Given the description of an element on the screen output the (x, y) to click on. 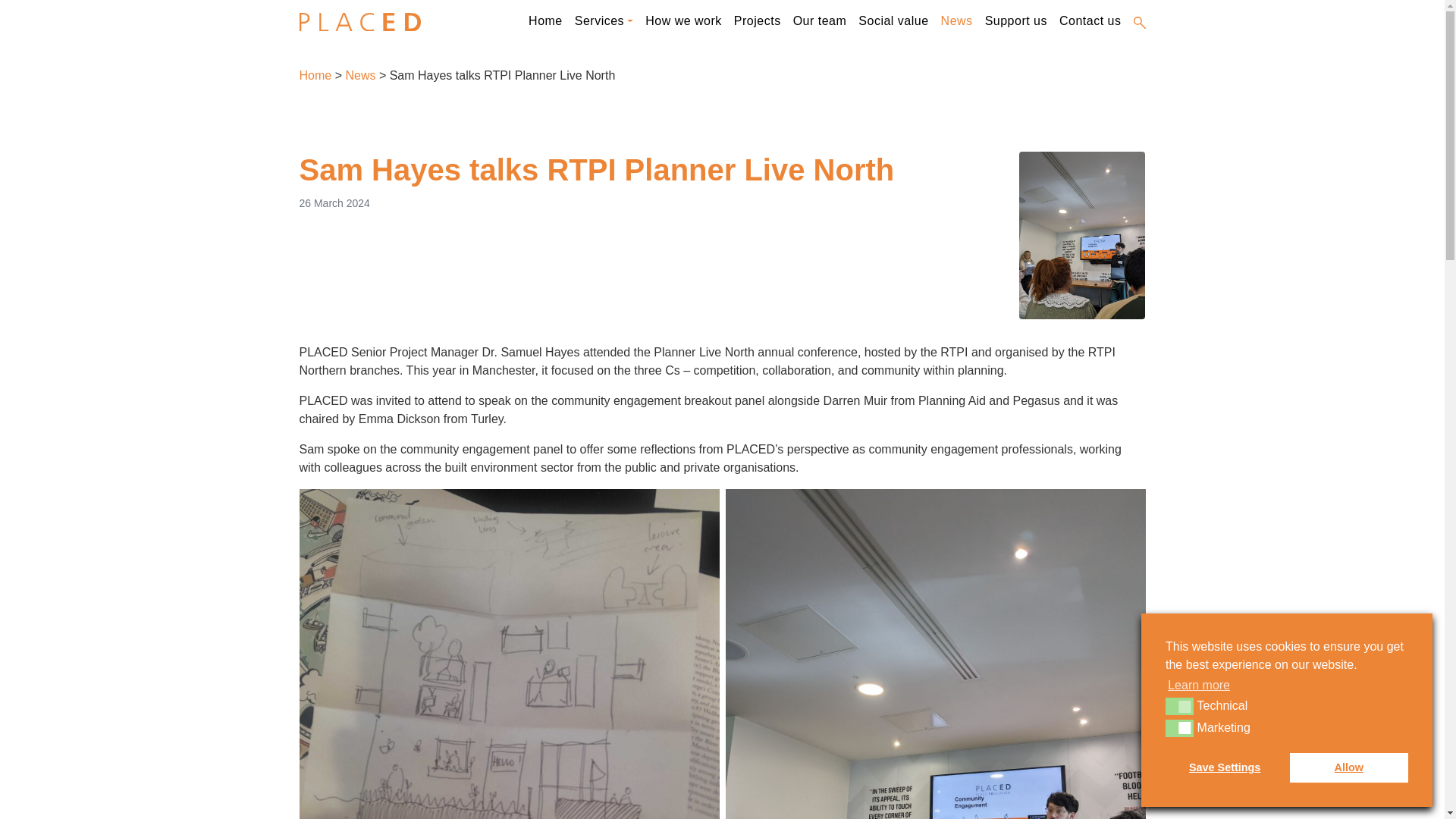
Save Settings (1225, 767)
Support us (1015, 21)
News (360, 74)
Services (604, 21)
News (956, 21)
Search (1138, 23)
Home (314, 74)
Social value (892, 21)
Home (545, 21)
Contact us (1089, 21)
Learn more (1198, 685)
Our team (820, 21)
How we work (683, 21)
Projects (757, 21)
